Given the description of an element on the screen output the (x, y) to click on. 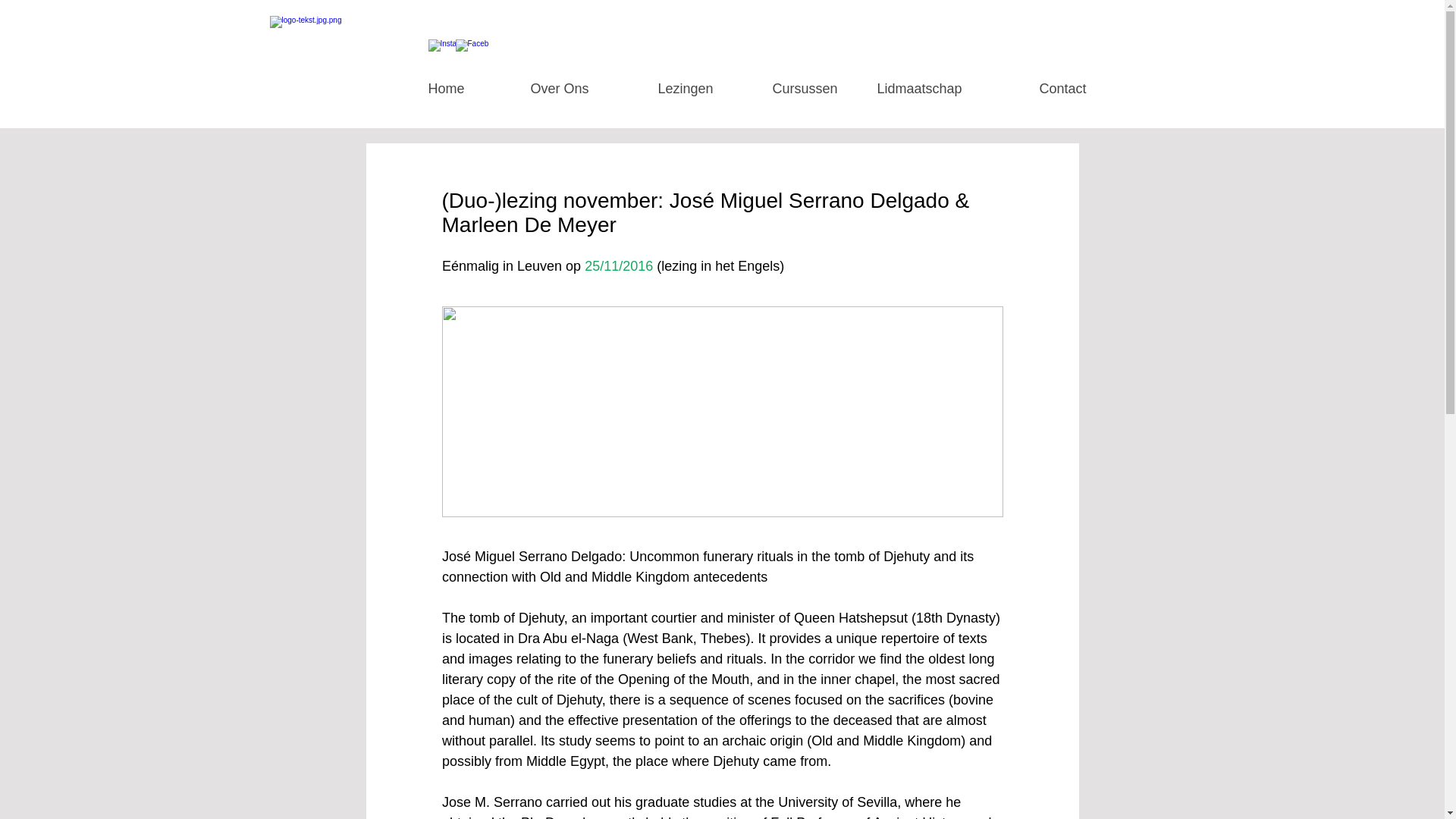
Home (413, 88)
Lidmaatschap (911, 88)
Cursussen (786, 88)
Over Ons (537, 88)
Lezingen (662, 88)
Contact (1035, 88)
